Given the description of an element on the screen output the (x, y) to click on. 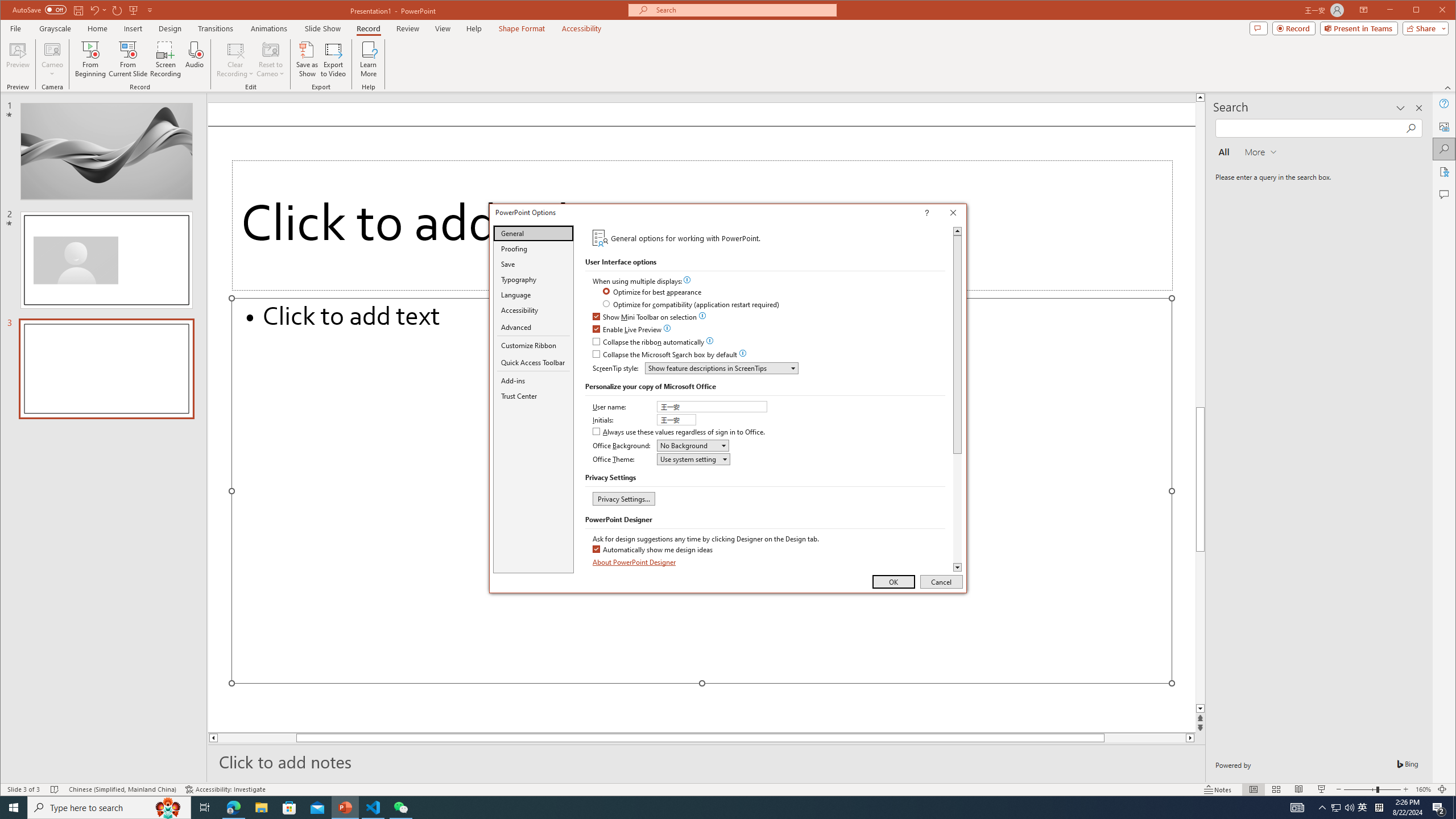
Learn More (368, 59)
Clear Recording (234, 59)
Reset to Cameo (269, 59)
Grayscale (55, 28)
